Given the description of an element on the screen output the (x, y) to click on. 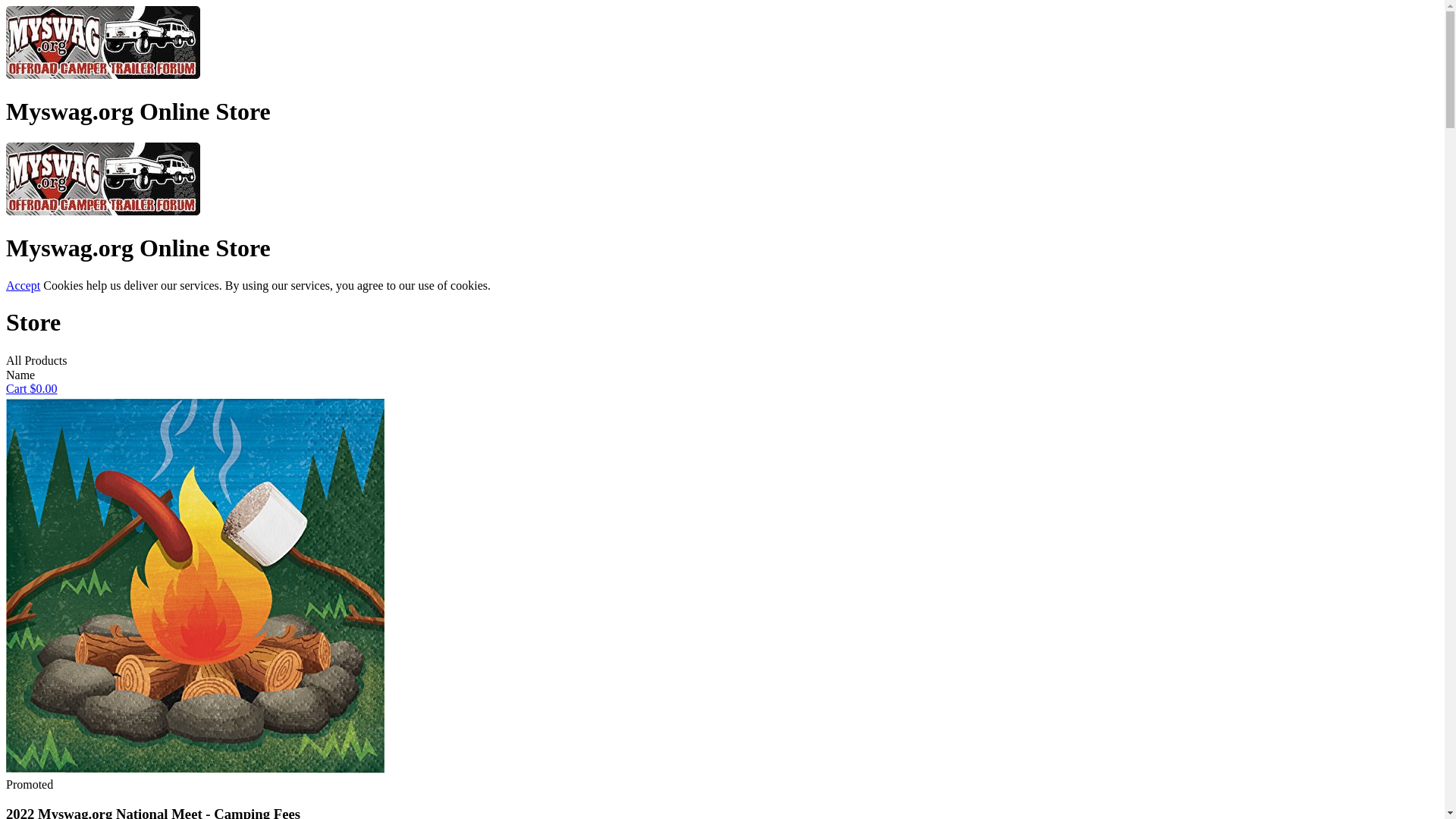
Accept Element type: text (23, 285)
Cart $0.00 Element type: text (31, 388)
